Given the description of an element on the screen output the (x, y) to click on. 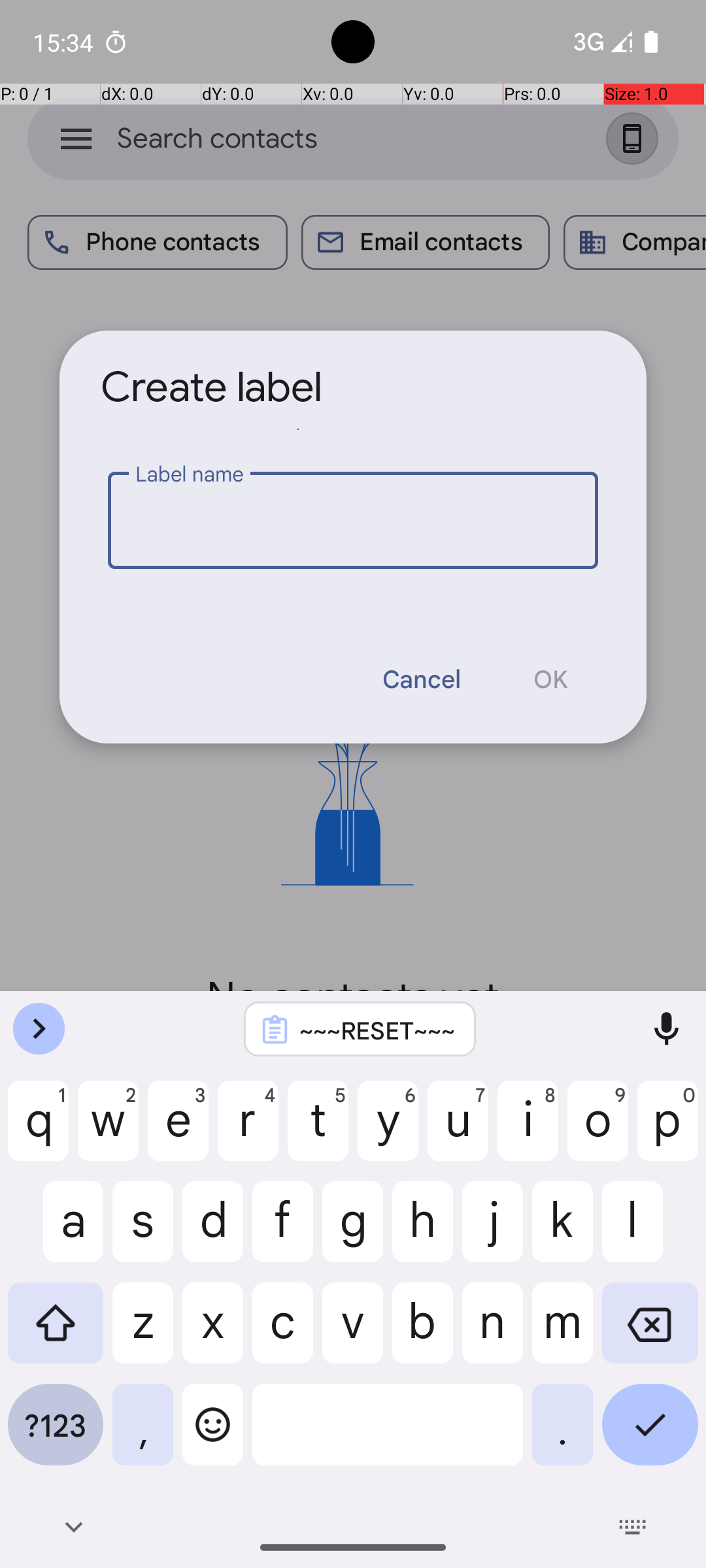
Create label Element type: android.widget.TextView (211, 387)
Label name Element type: android.widget.EditText (352, 520)
